Given the description of an element on the screen output the (x, y) to click on. 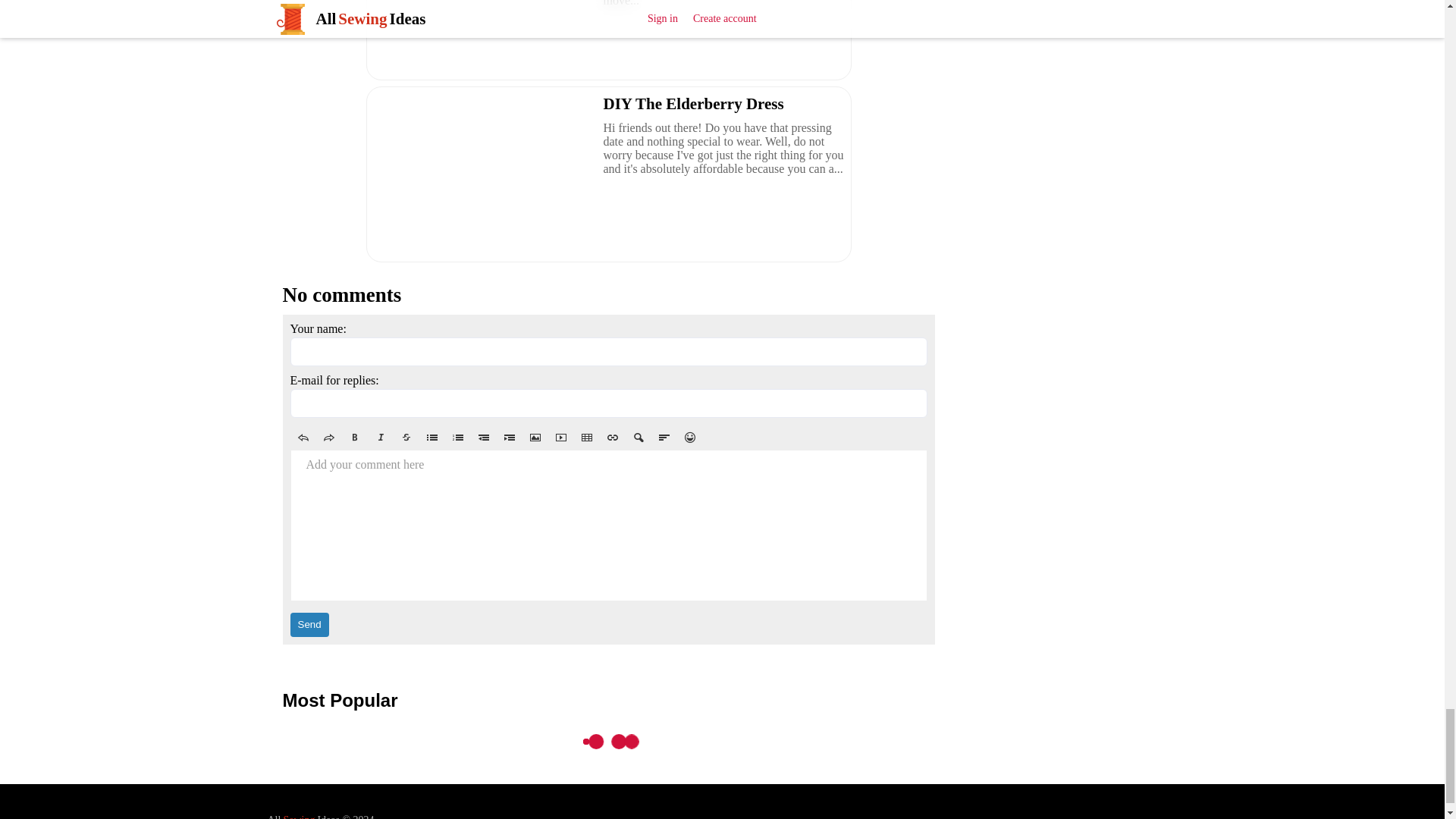
Table (585, 437)
Send (309, 624)
Spoiler (637, 437)
Bold (353, 437)
Undo (302, 437)
Smiles (689, 437)
1. Ordered List (457, 437)
Link (611, 437)
Alignment (663, 437)
Redo (327, 437)
